Given the description of an element on the screen output the (x, y) to click on. 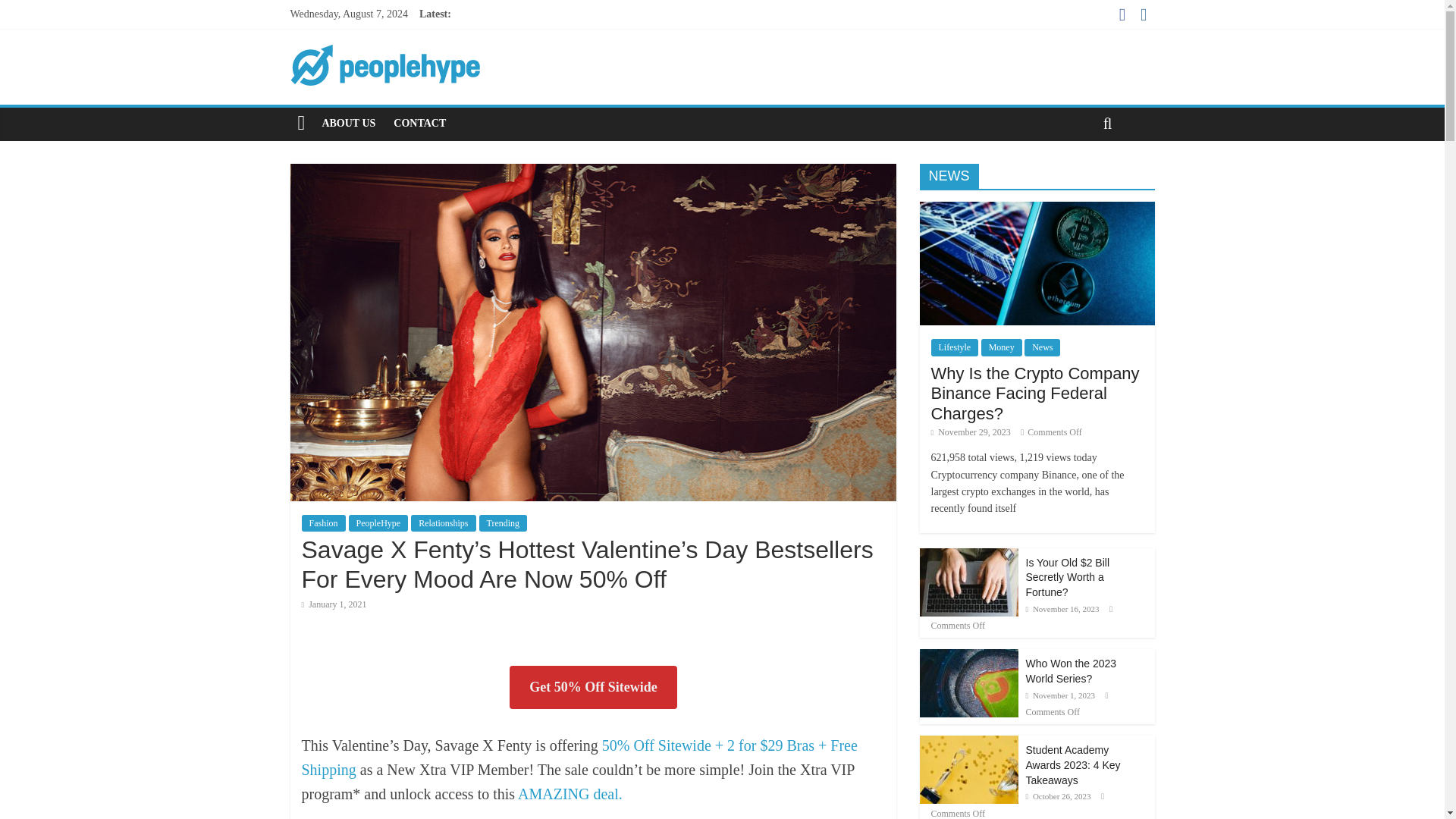
ABOUT US (348, 123)
Why Is the Crypto Company Binance Facing Federal Charges? (1035, 393)
10:02 am (333, 603)
PeopleHype (379, 523)
Why Is the Crypto Company Binance Facing Federal Charges? (1036, 209)
January 1, 2021 (333, 603)
3:10 pm (970, 431)
Why Is the Crypto Company Binance Facing Federal Charges? (1036, 263)
Relationships (443, 523)
AMAZING deal. (570, 793)
